Given the description of an element on the screen output the (x, y) to click on. 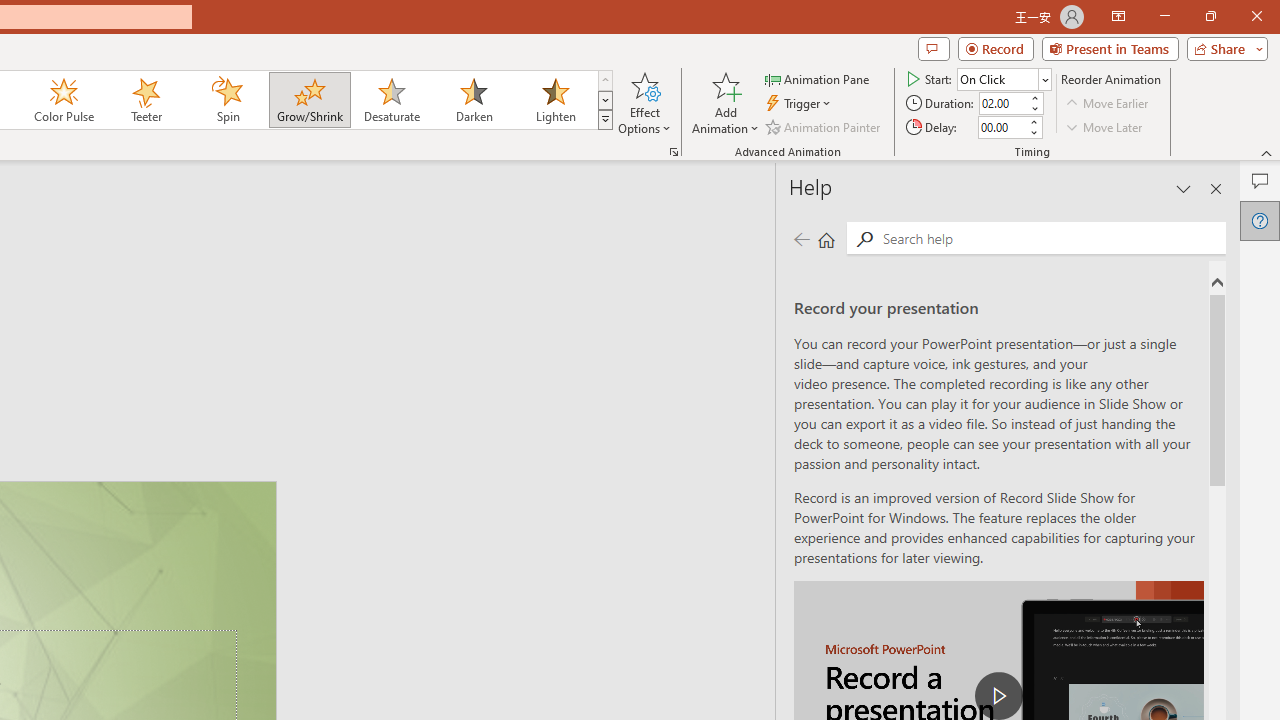
Effect Options (644, 102)
More Options... (673, 151)
Animation Painter (824, 126)
Move Later (1105, 126)
Teeter (145, 100)
play Record a Presentation (998, 695)
